Given the description of an element on the screen output the (x, y) to click on. 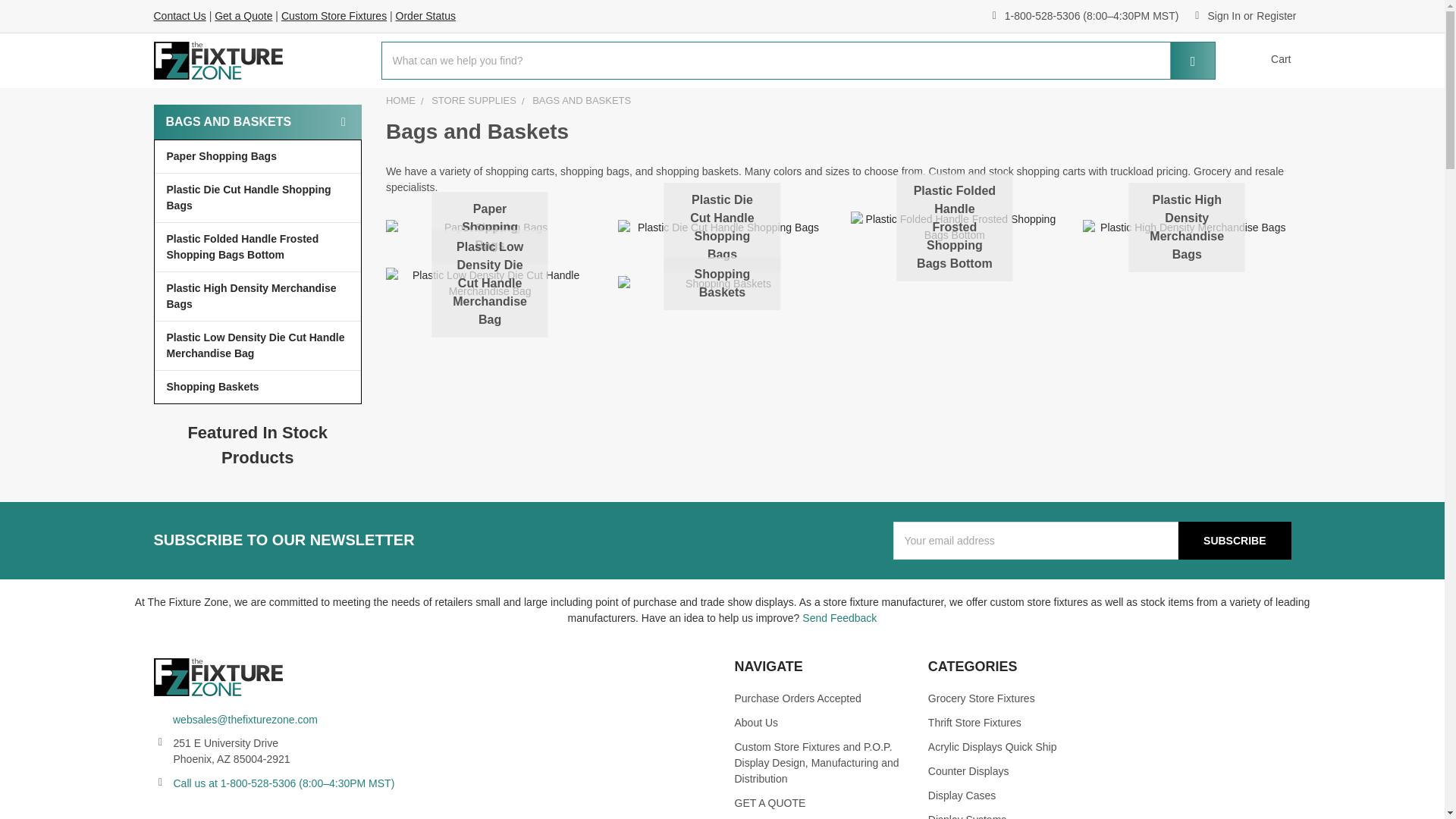
Plastic High Density Merchandise Bags (1186, 226)
Search (1182, 60)
Facebook (164, 814)
Plastic Folded Handle Frosted Shopping Bags Bottom (954, 227)
Plastic Folded Handle Frosted Shopping Bags Bottom (257, 246)
Order Status (425, 15)
Shopping Baskets (721, 283)
BAGS AND BASKETS (581, 100)
Register (1275, 16)
Custom Store Fixtures (334, 15)
